Given the description of an element on the screen output the (x, y) to click on. 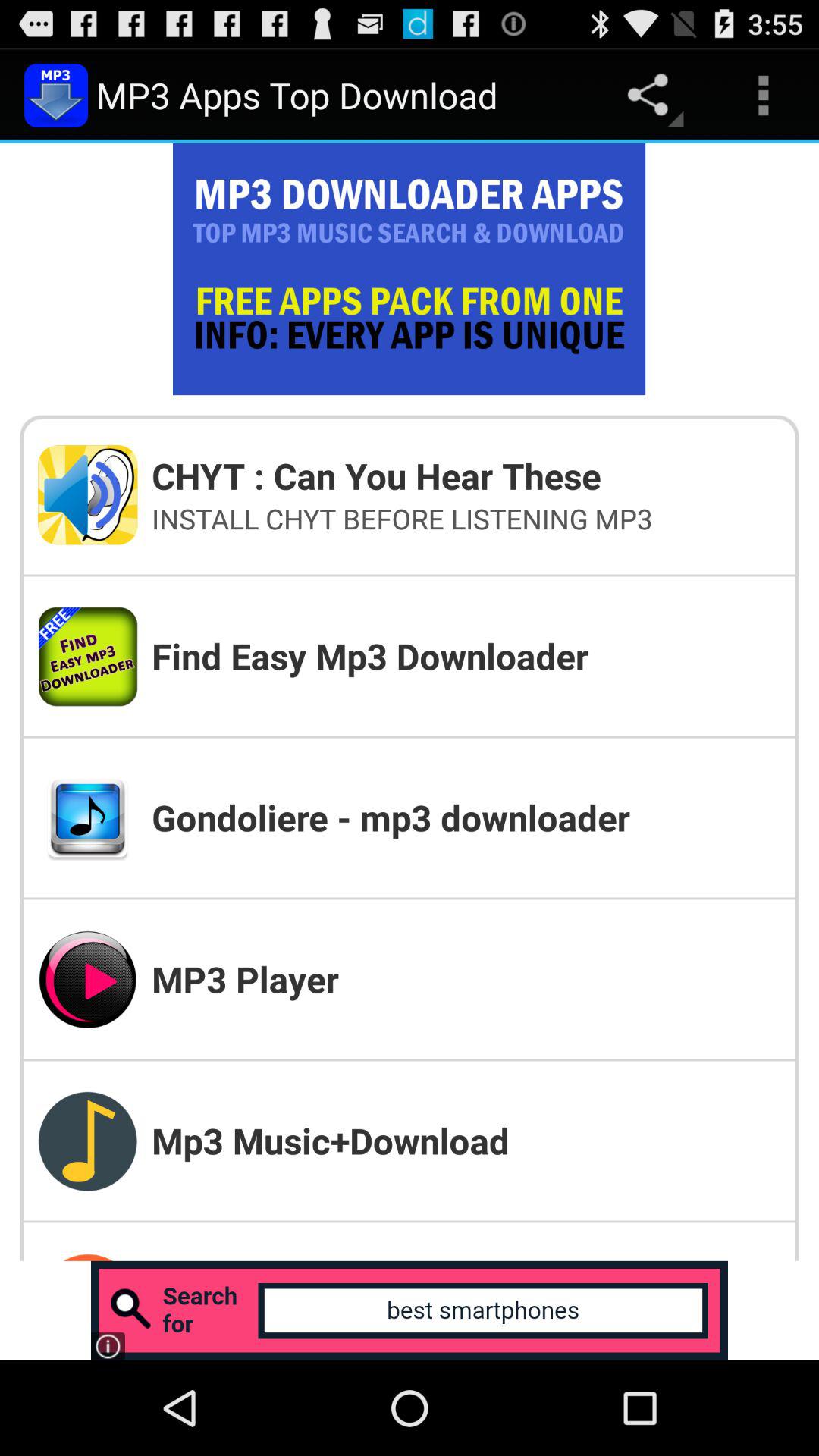
flip to the gondoliere - mp3 downloader (465, 817)
